Given the description of an element on the screen output the (x, y) to click on. 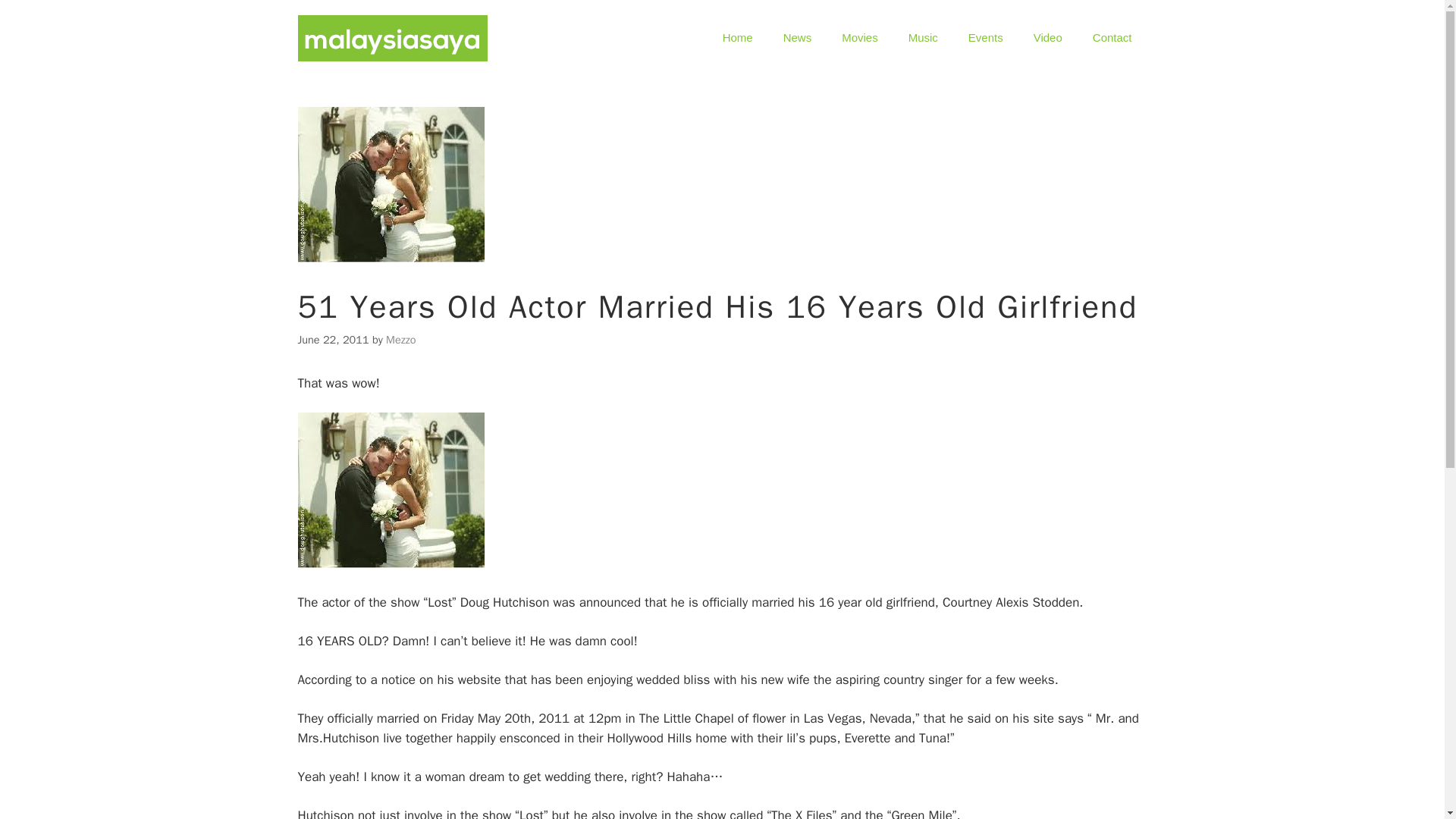
Music (923, 37)
Malaysiasaya TV (1047, 37)
Movies (860, 37)
Home (737, 37)
View all posts by Mezzo (400, 339)
Video (1047, 37)
Contact (1112, 37)
Events (985, 37)
Mezzo (400, 339)
News (797, 37)
images (390, 490)
